Given the description of an element on the screen output the (x, y) to click on. 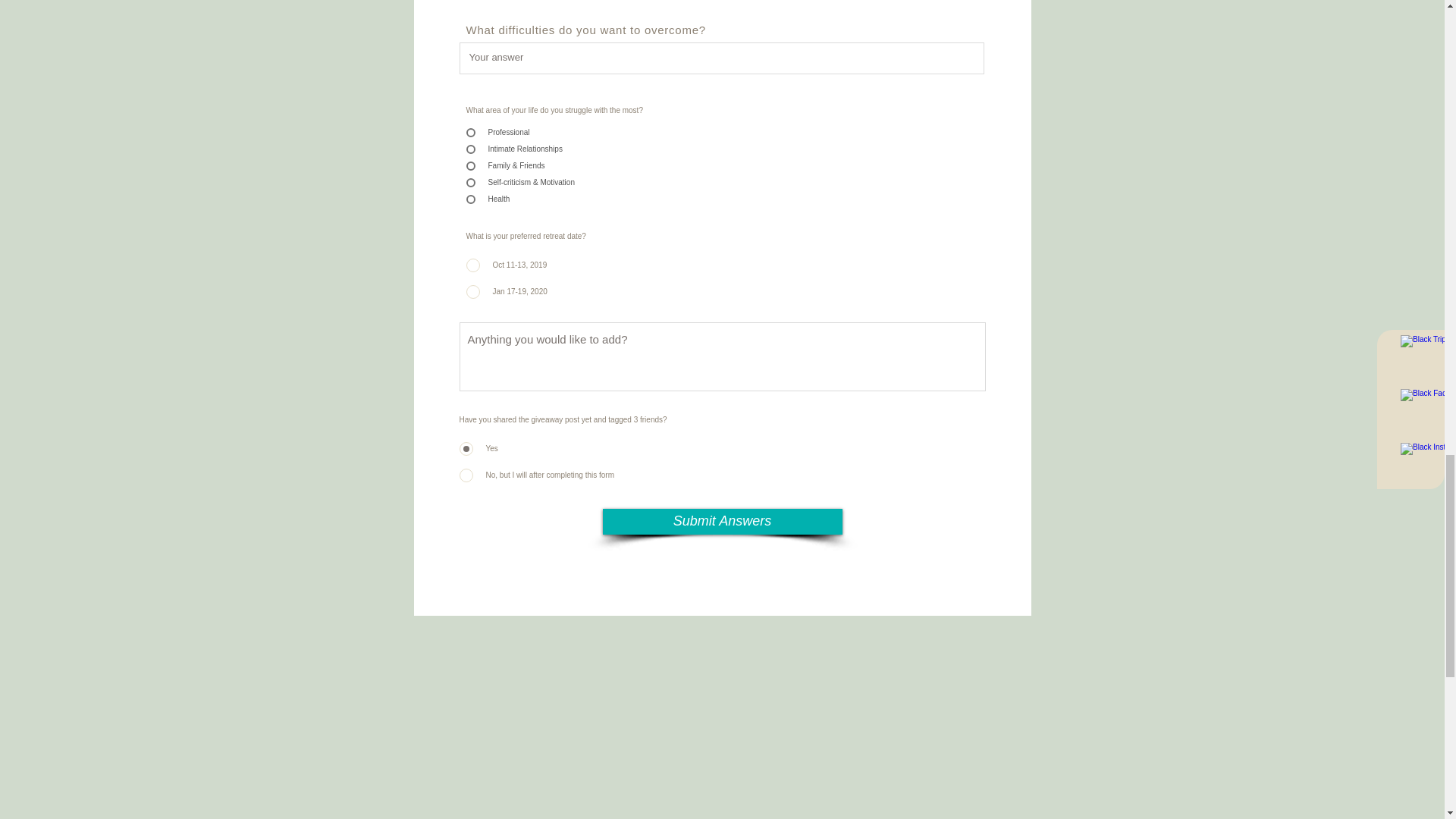
Submit Answers (721, 520)
